Given the description of an element on the screen output the (x, y) to click on. 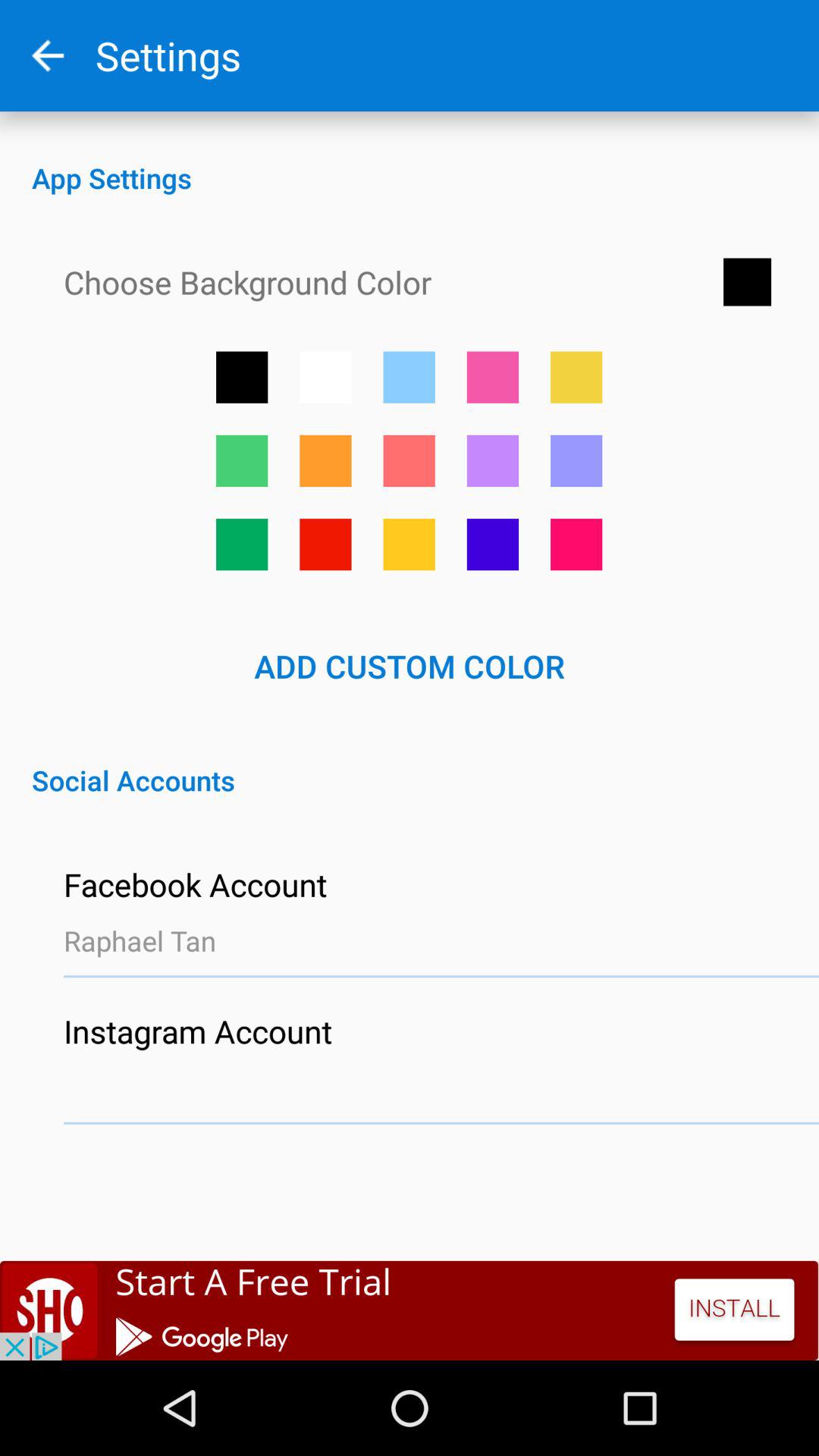
background colour select (241, 460)
